Given the description of an element on the screen output the (x, y) to click on. 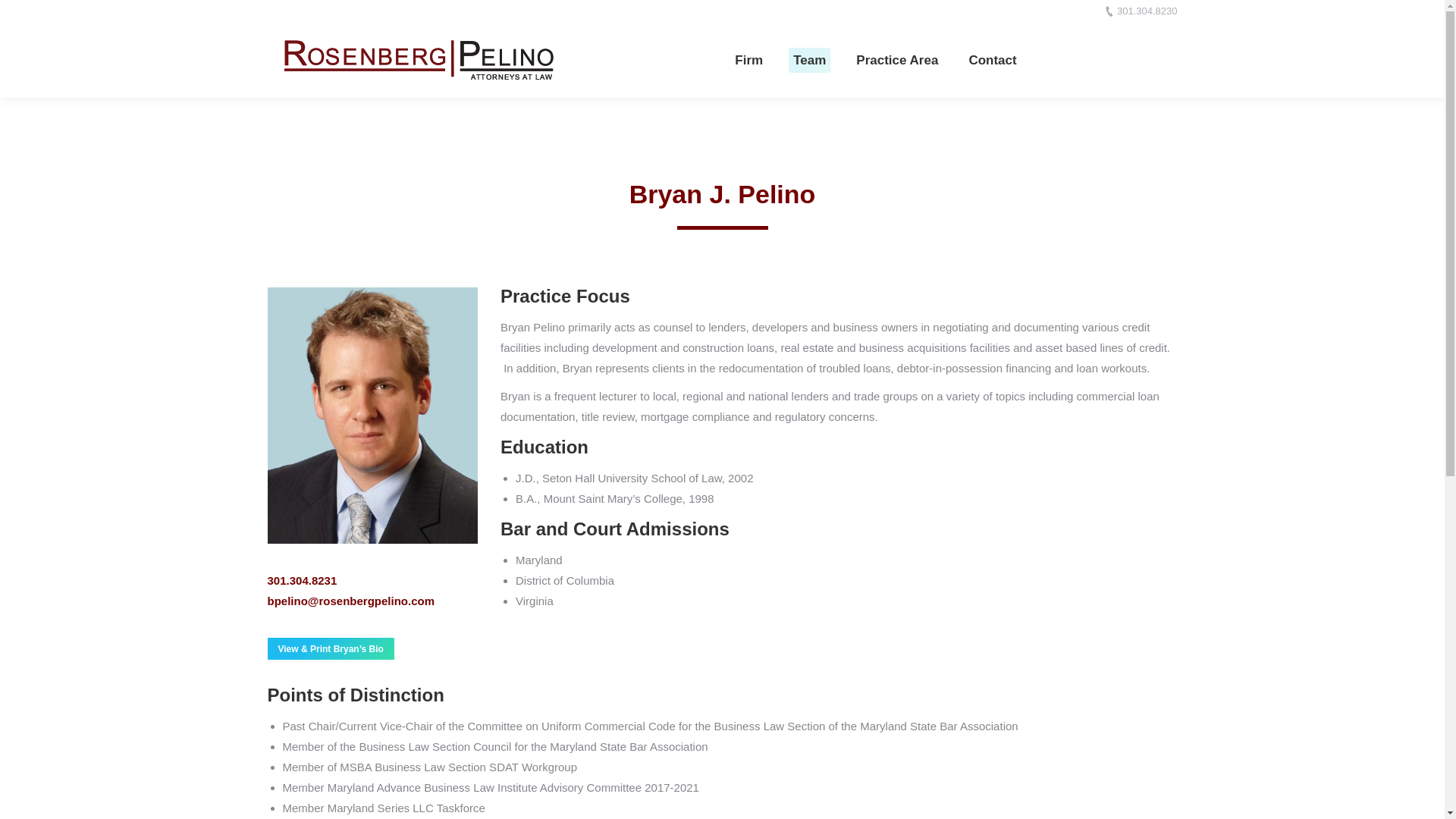
301.304.8231 (301, 580)
Practice Area (896, 59)
Firm (748, 59)
Contact (991, 59)
Team (809, 59)
